Given the description of an element on the screen output the (x, y) to click on. 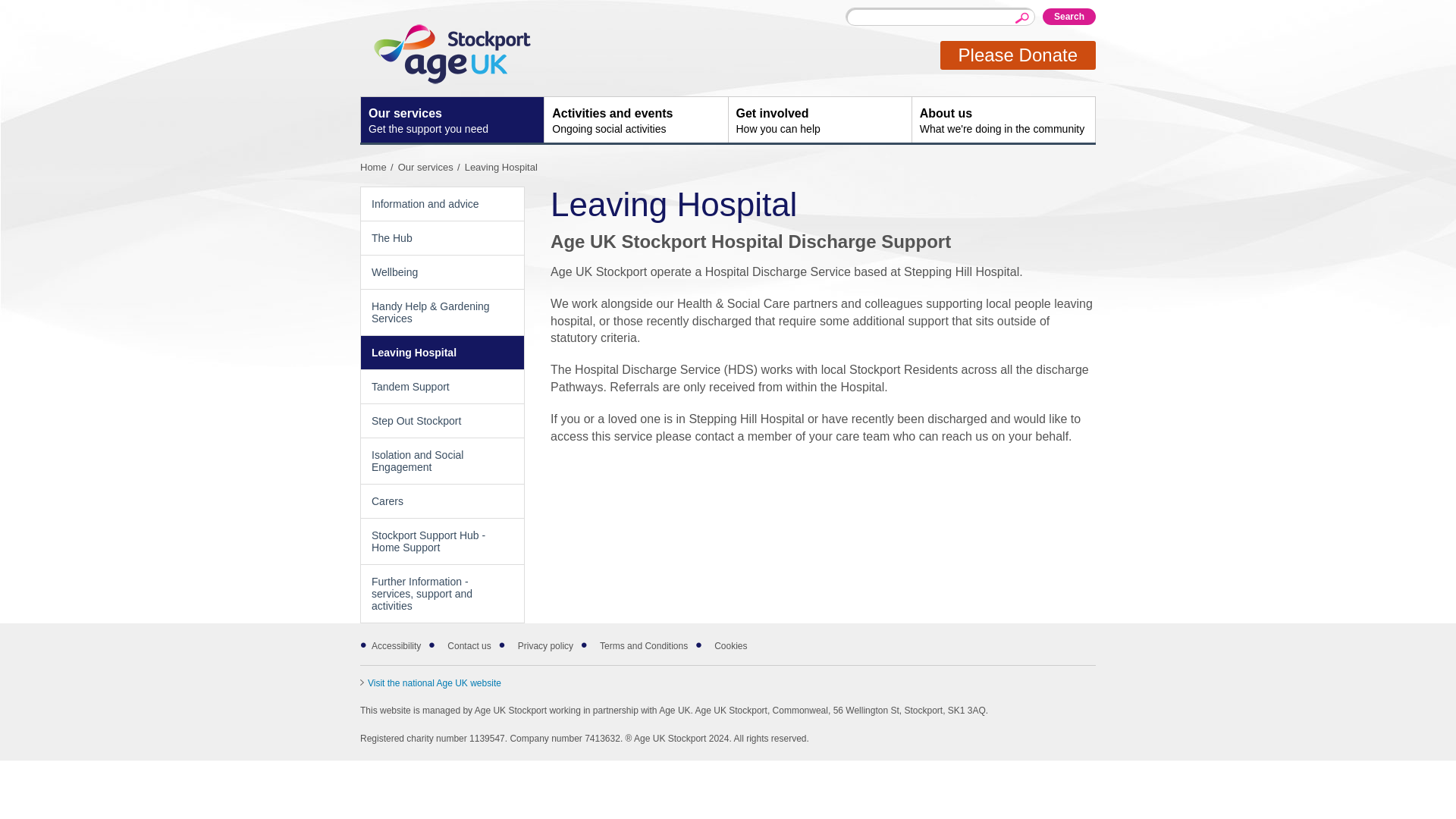
Title (430, 166)
Search (819, 119)
Title (1069, 16)
opens in a new window (635, 119)
Title (378, 166)
Please Donate (429, 683)
